Given the description of an element on the screen output the (x, y) to click on. 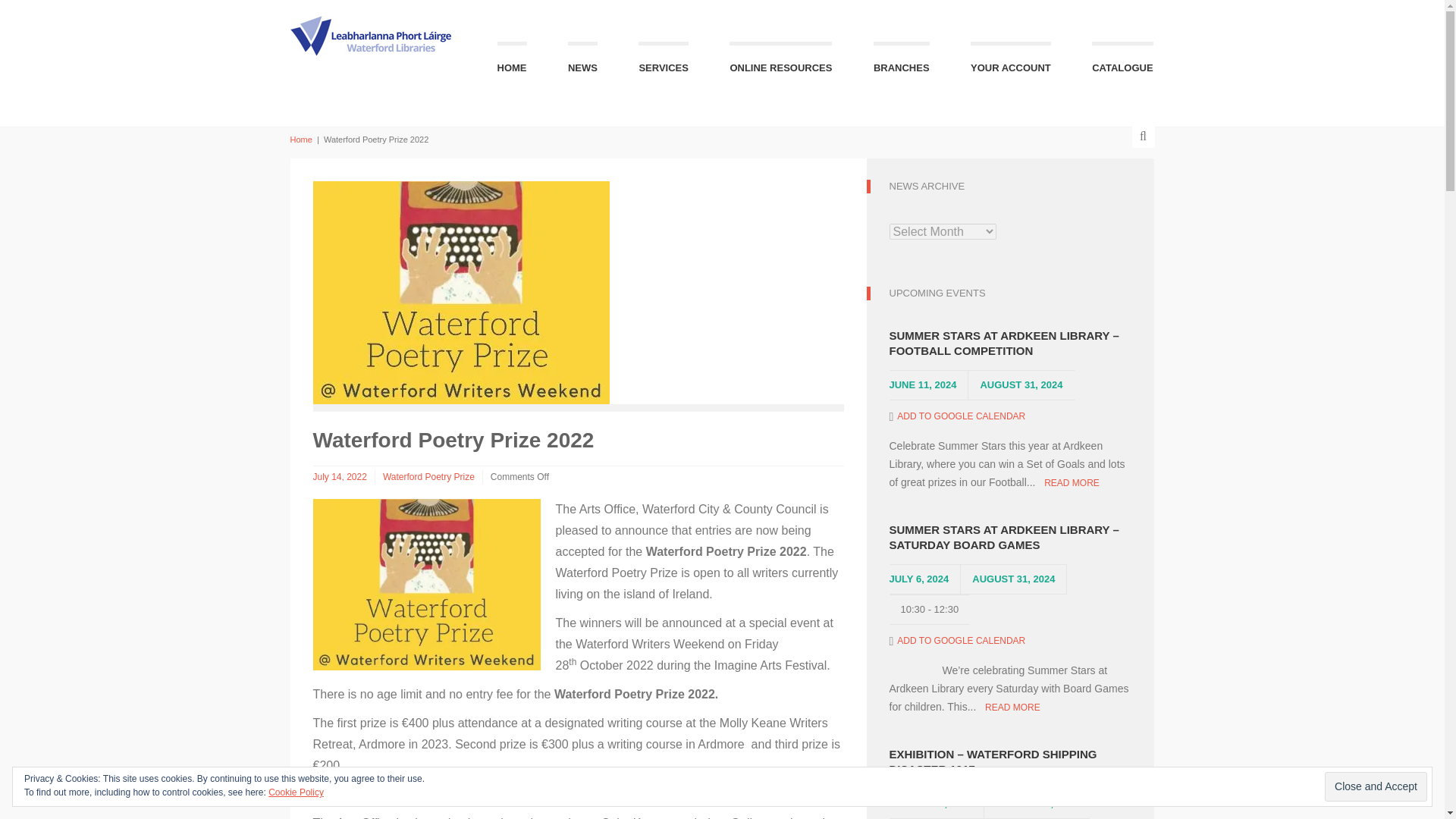
View all posts in Waterford Poetry Prize (428, 476)
SERVICES (663, 62)
ONLINE RESOURCES (780, 62)
CATALOGUE (1122, 62)
Close and Accept (1375, 786)
BRANCHES (901, 62)
Permalink to Waterford Poetry Prize 2022 (339, 476)
YOUR ACCOUNT (1011, 62)
